Given the description of an element on the screen output the (x, y) to click on. 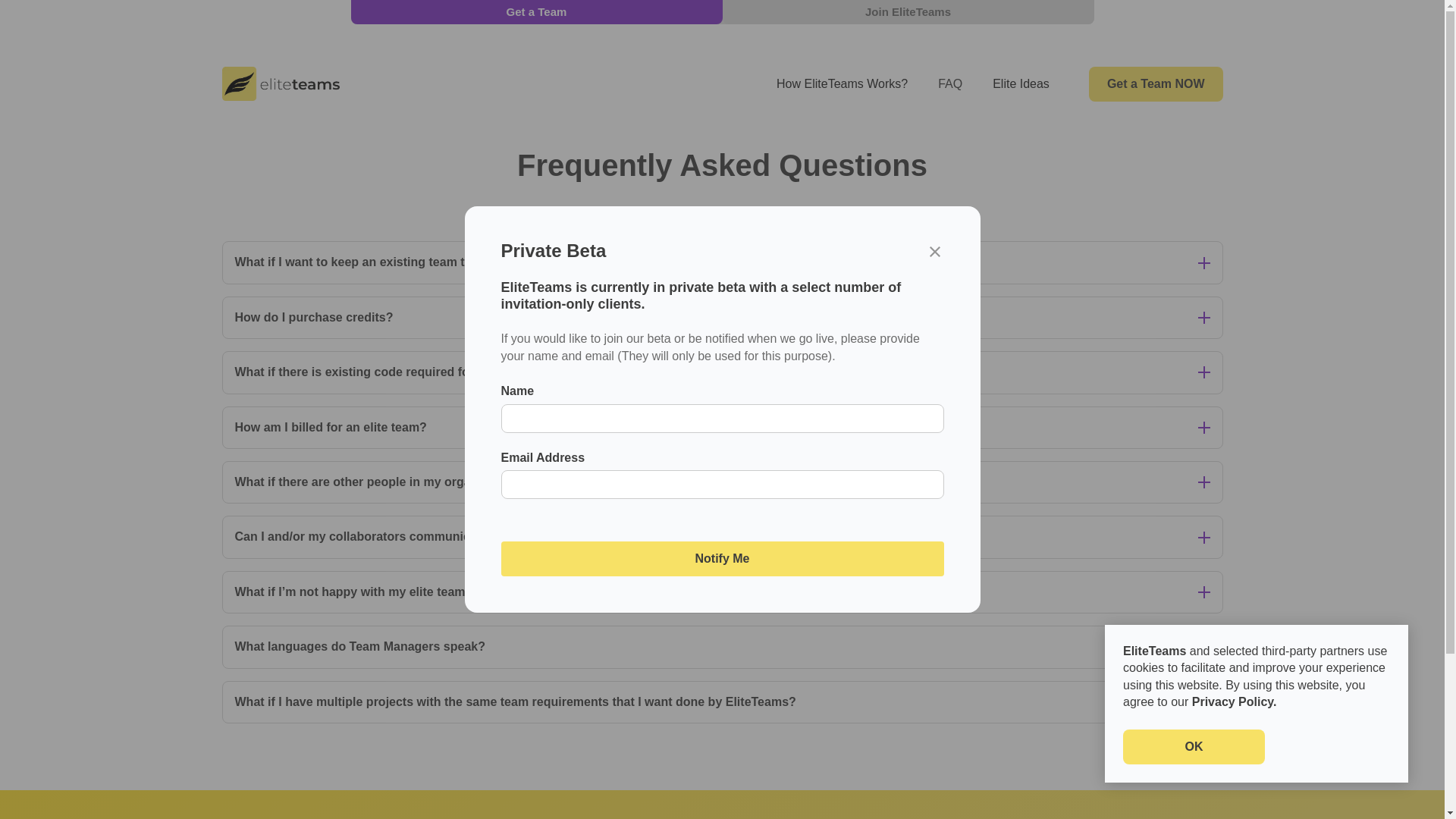
OK (1193, 746)
How EliteTeams Works? (842, 83)
Privacy Policy. (1234, 701)
Join EliteTeams (907, 12)
How am I billed for an elite team? (722, 427)
How do I purchase credits? (722, 317)
What if there is existing code required for a project? (722, 372)
Get a Team NOW (1156, 83)
What languages do Team Managers speak? (722, 646)
FAQ (949, 83)
Notify Me (721, 558)
Notify Me (721, 558)
Elite Ideas (1020, 83)
